Given the description of an element on the screen output the (x, y) to click on. 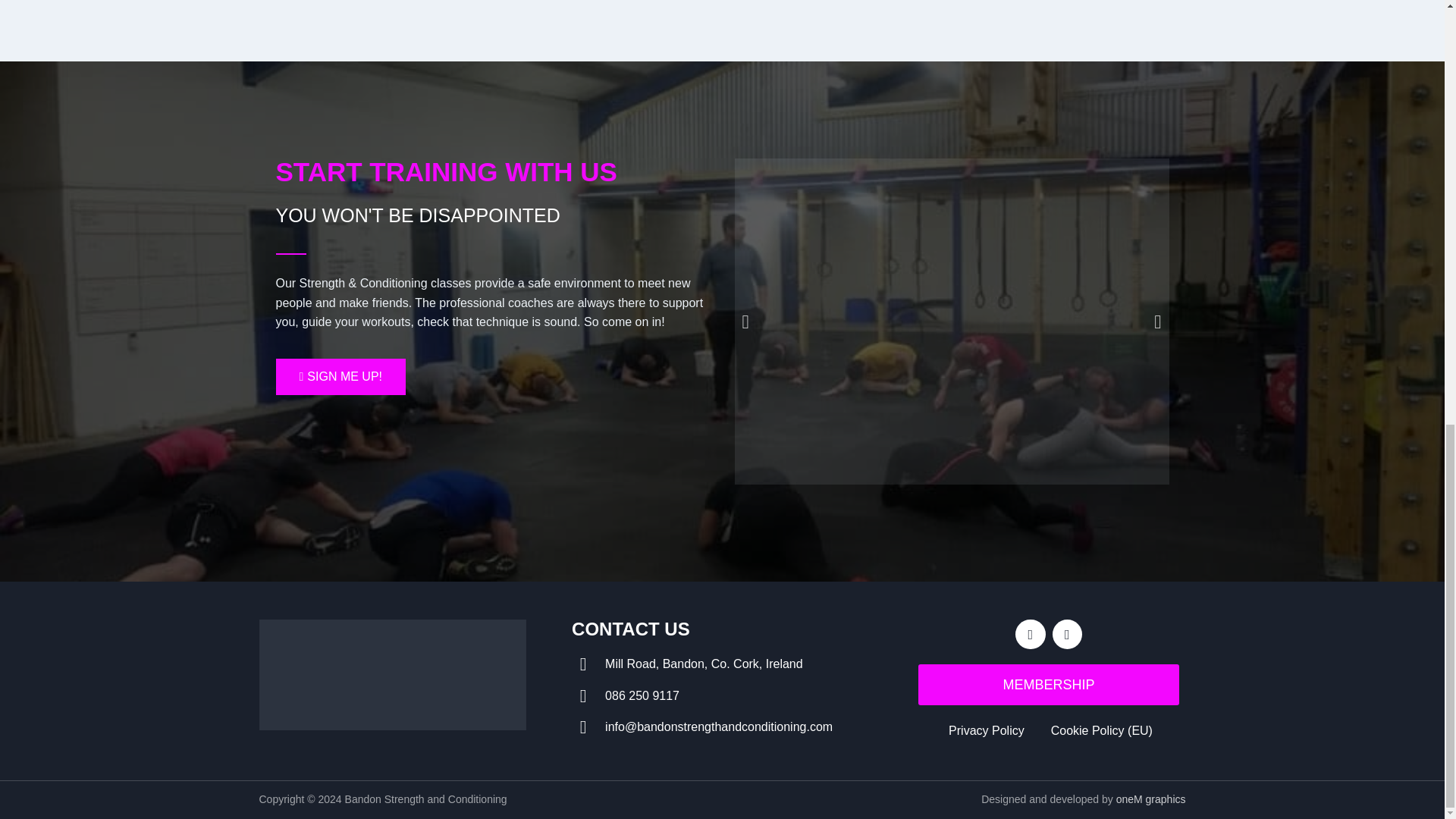
MEMBERSHIP (1048, 684)
Privacy Policy (984, 731)
SIGN ME UP! (341, 376)
oneM graphics (1151, 799)
086 250 9117 (722, 695)
